Given the description of an element on the screen output the (x, y) to click on. 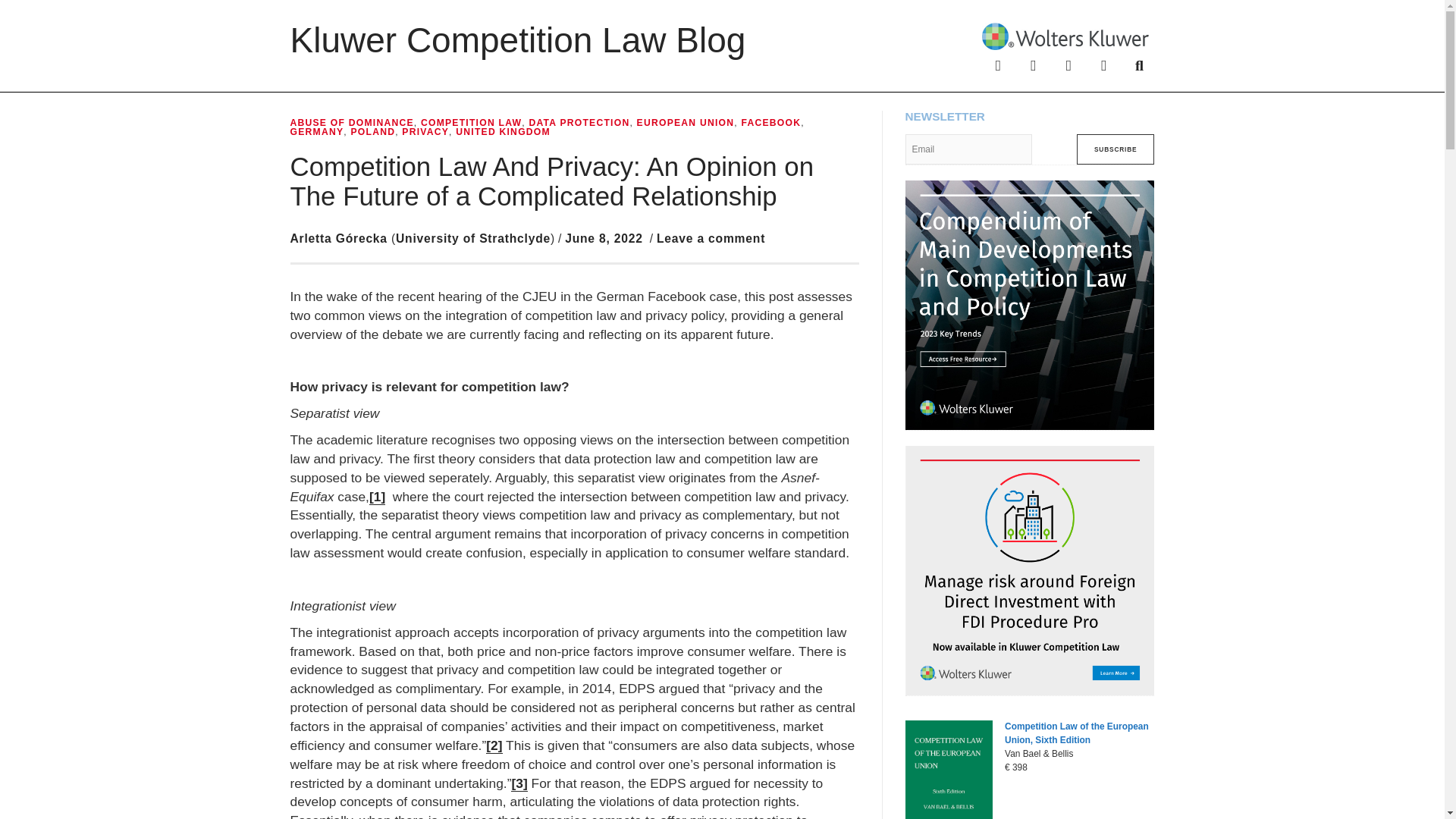
Kluwer Competition Law Blog (517, 39)
Wolters Kluwer Home (1064, 34)
YouTube (1104, 64)
EUROPEAN UNION (686, 122)
UNITED KINGDOM (502, 131)
Learn more (1029, 304)
DATA PROTECTION (578, 122)
LinkedIn (1067, 64)
POLAND (372, 131)
